Given the description of an element on the screen output the (x, y) to click on. 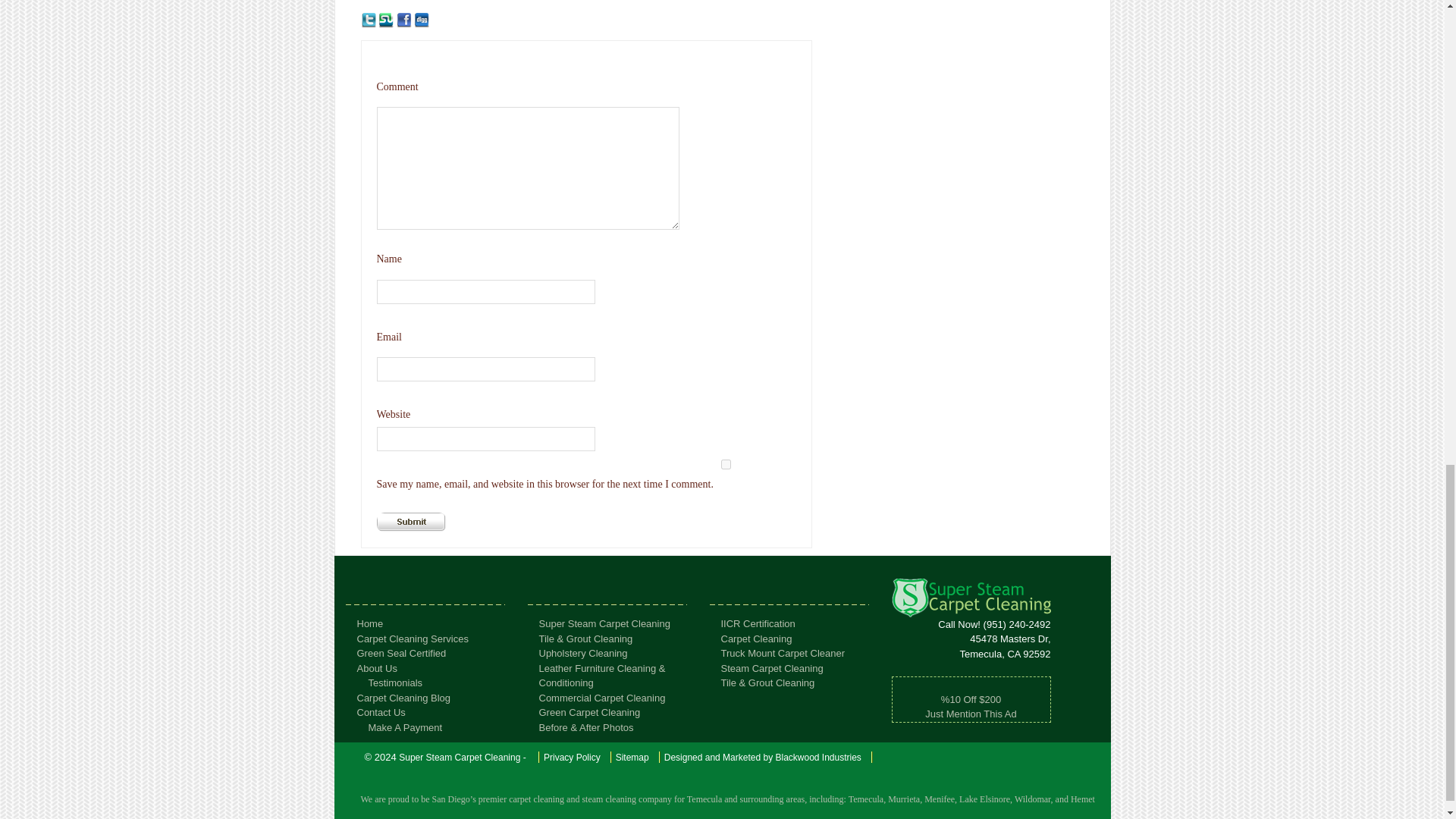
Super Steam Carpet Cleaning (603, 623)
Post Comment (410, 522)
yes (725, 464)
Share on StumbleUpon! (385, 19)
Home (369, 623)
Post Comment (410, 522)
Carpet Cleaning Blog (402, 697)
Digg This! (421, 19)
digg (421, 20)
facebook (404, 20)
